Given the description of an element on the screen output the (x, y) to click on. 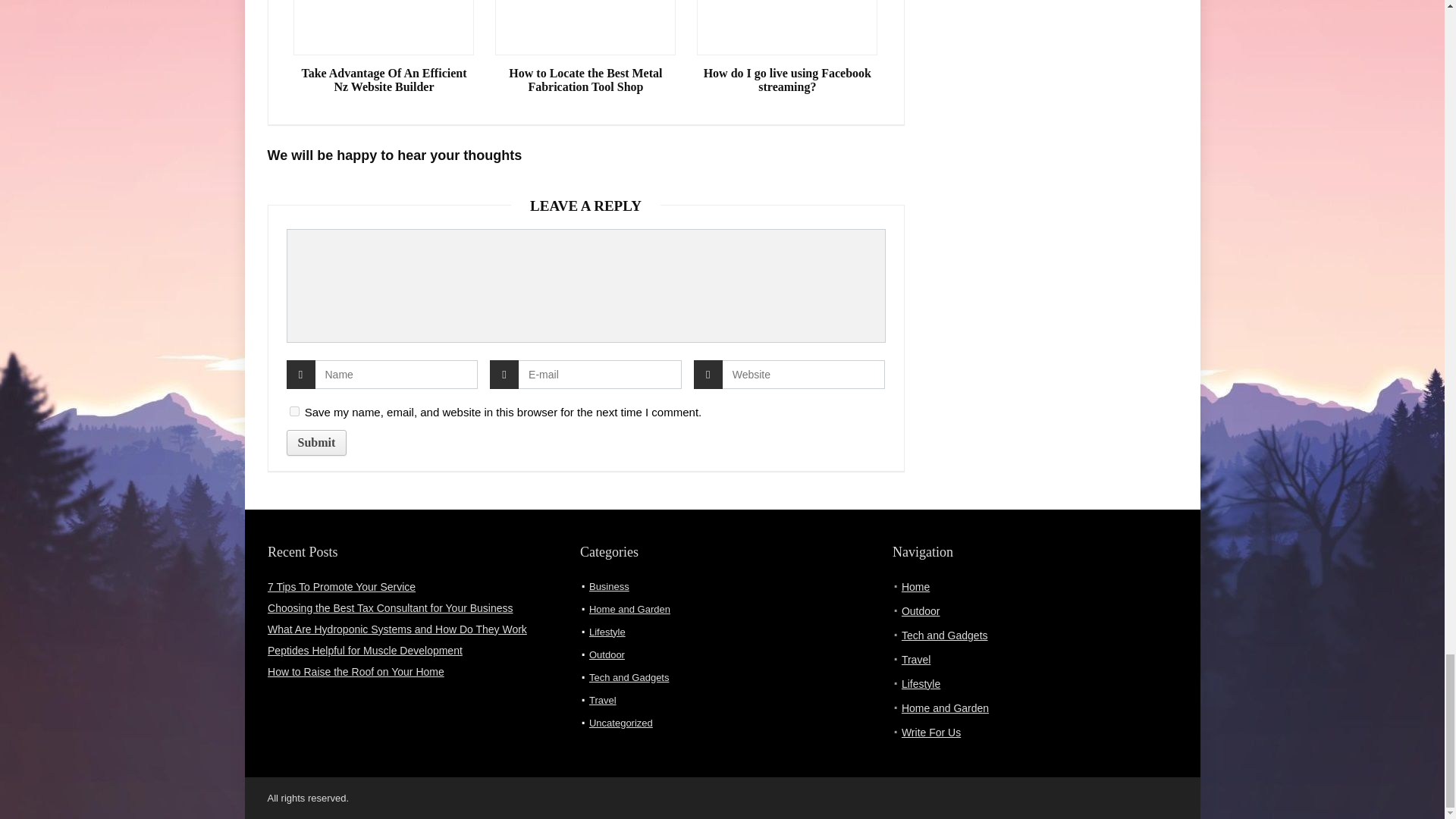
How do I go live using Facebook streaming? (787, 80)
How to Locate the Best Metal Fabrication Tool Shop (585, 80)
yes (294, 411)
Submit (316, 442)
Take Advantage Of An Efficient Nz Website Builder (384, 80)
